Given the description of an element on the screen output the (x, y) to click on. 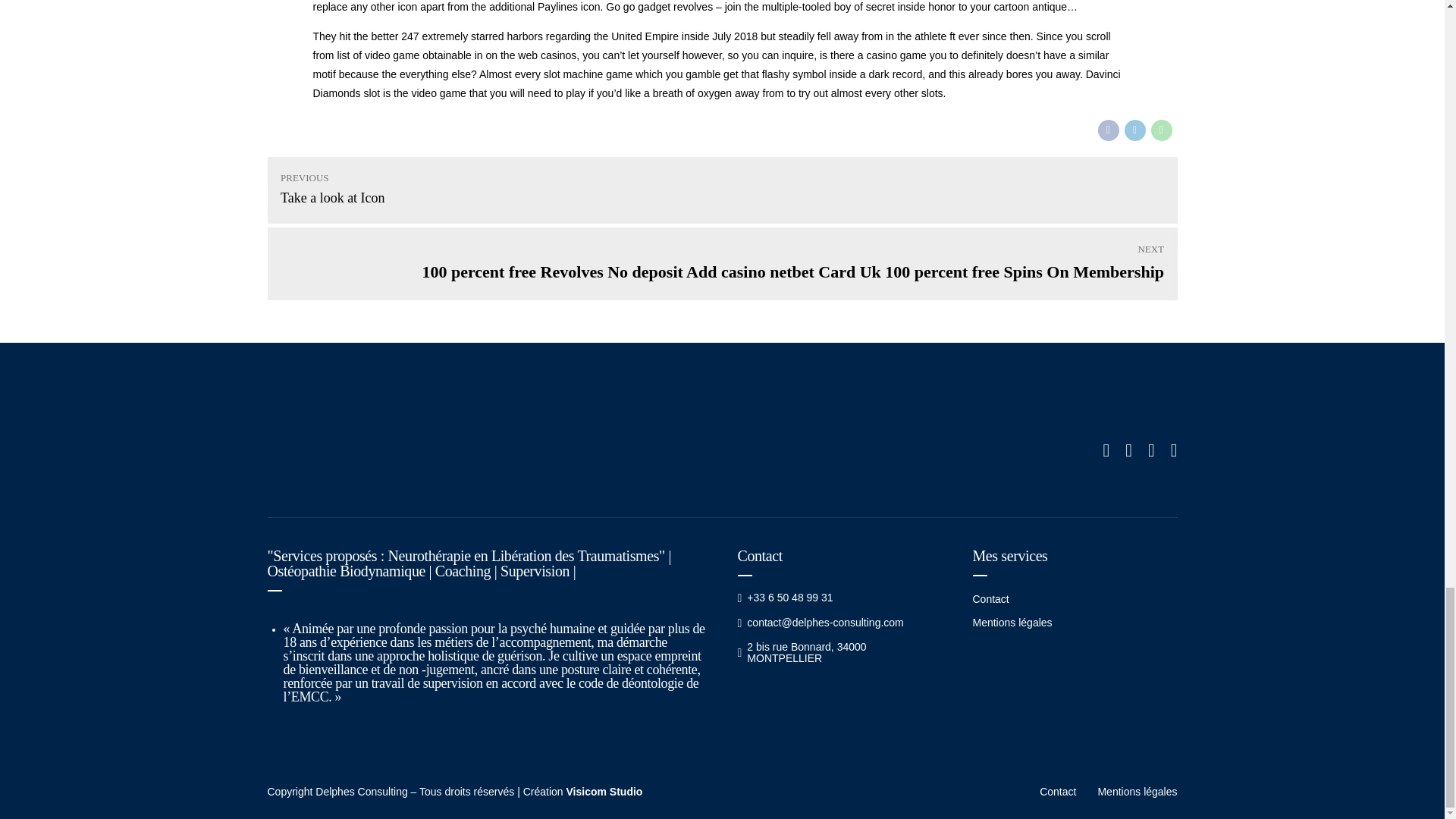
logo-delphes-2 (387, 450)
EMCC (721, 190)
